Given the description of an element on the screen output the (x, y) to click on. 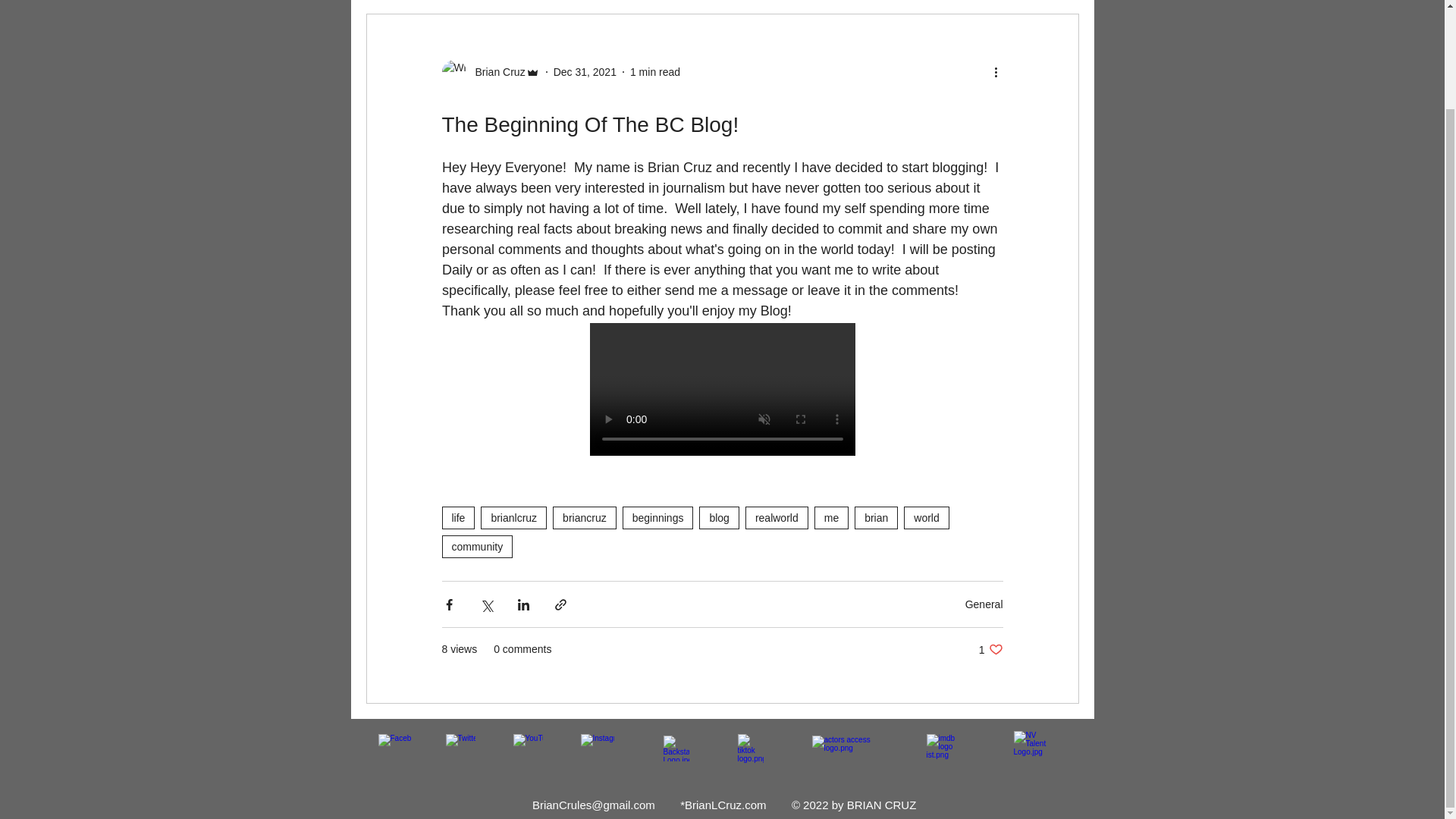
beginnings (658, 517)
Brian Cruz (494, 72)
life (457, 517)
Dec 31, 2021 (584, 71)
me (830, 517)
brian (876, 517)
world (926, 517)
brianlcruz (513, 517)
blog (990, 649)
